Given the description of an element on the screen output the (x, y) to click on. 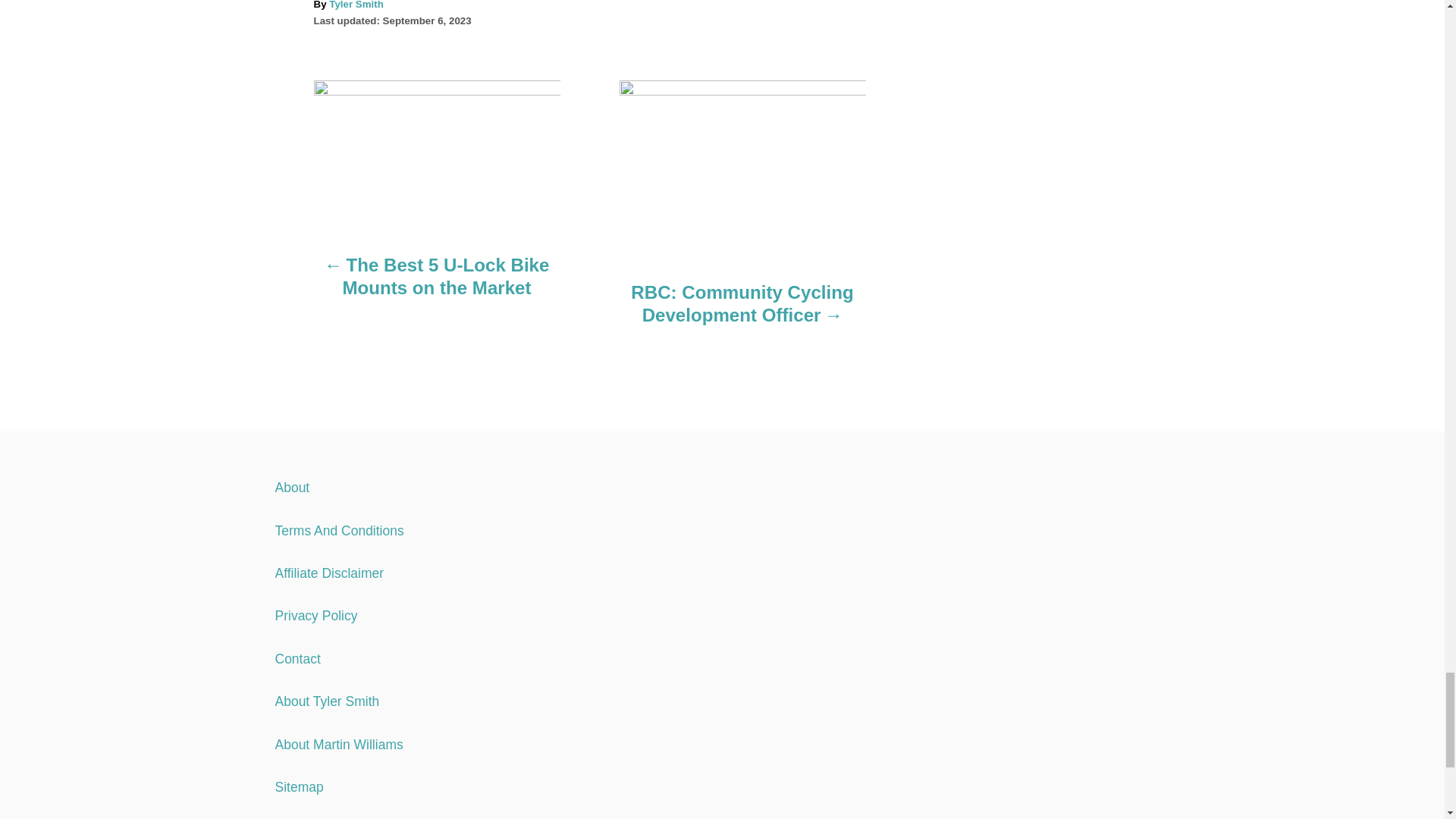
Privacy Policy (315, 615)
About Tyler Smith (326, 701)
Tyler Smith (356, 4)
The Best 5 U-Lock Bike Mounts on the Market (437, 283)
About Martin Williams (339, 744)
Sitemap (299, 786)
Affiliate Disclaimer (329, 572)
Terms And Conditions (339, 530)
About (291, 487)
Contact (297, 658)
RBC: Community Cycling Development Officer (741, 311)
